Given the description of an element on the screen output the (x, y) to click on. 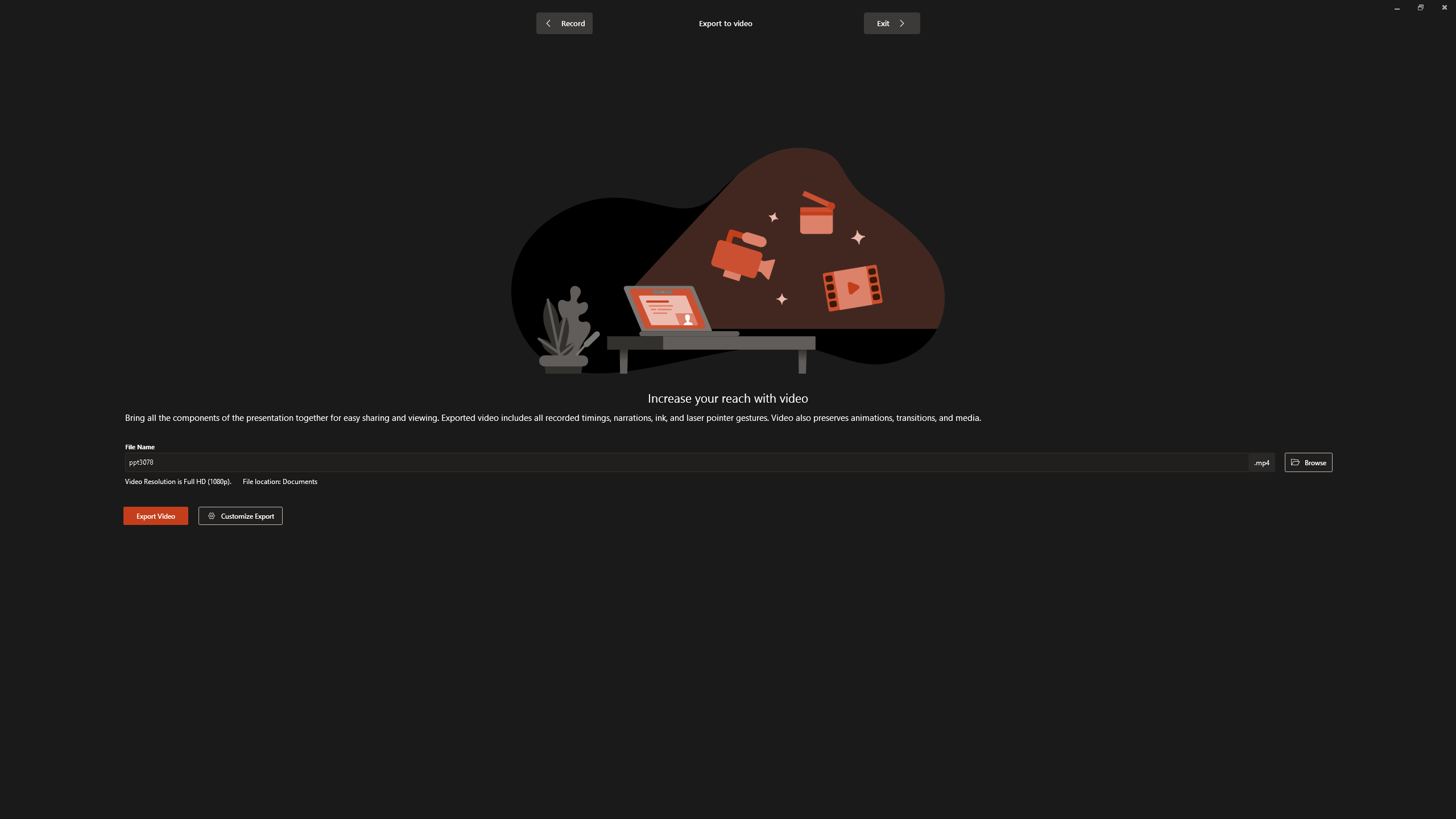
Filename (687, 464)
